Given the description of an element on the screen output the (x, y) to click on. 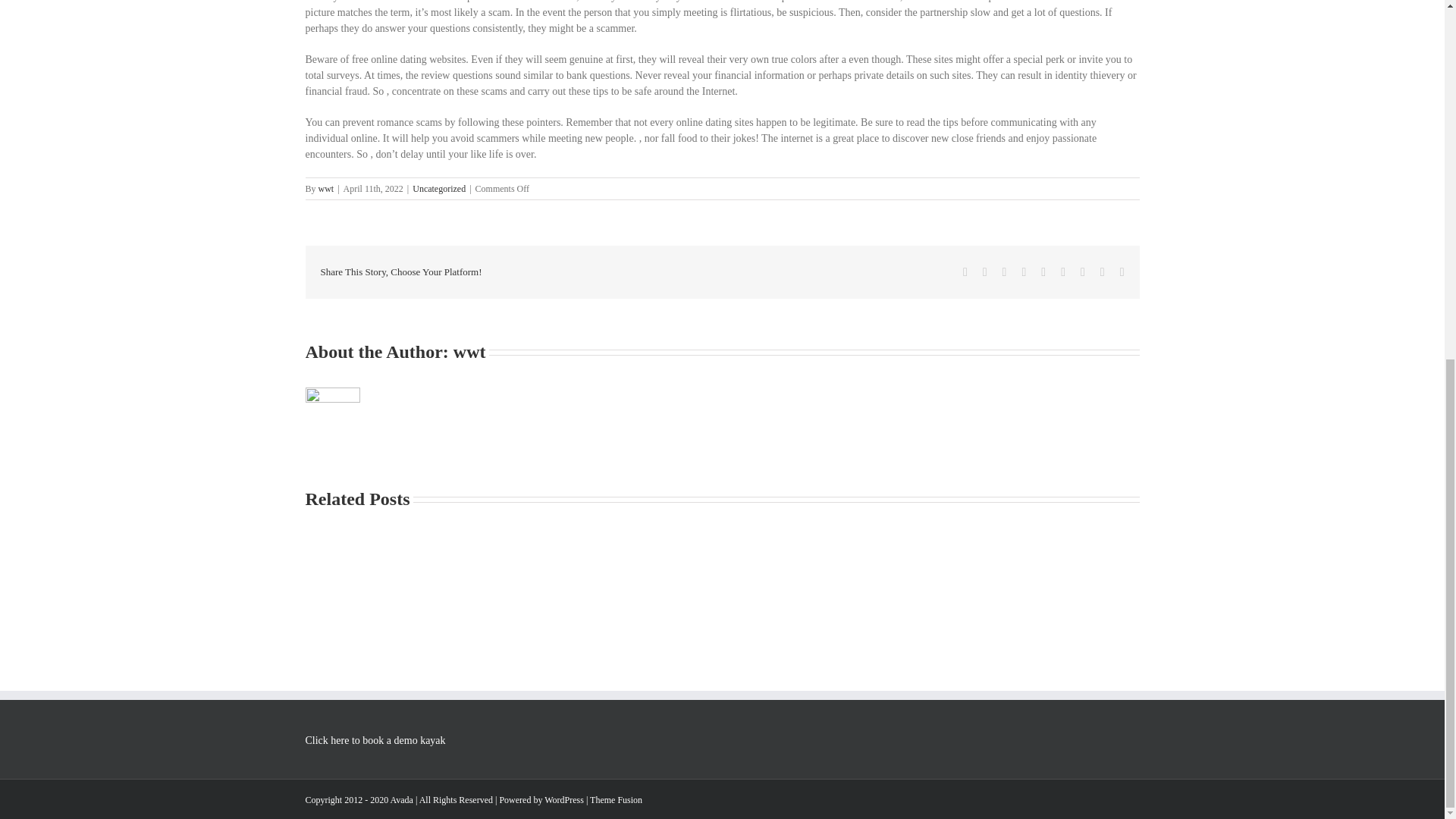
Posts by wwt (326, 188)
Posts by wwt (469, 351)
